Given the description of an element on the screen output the (x, y) to click on. 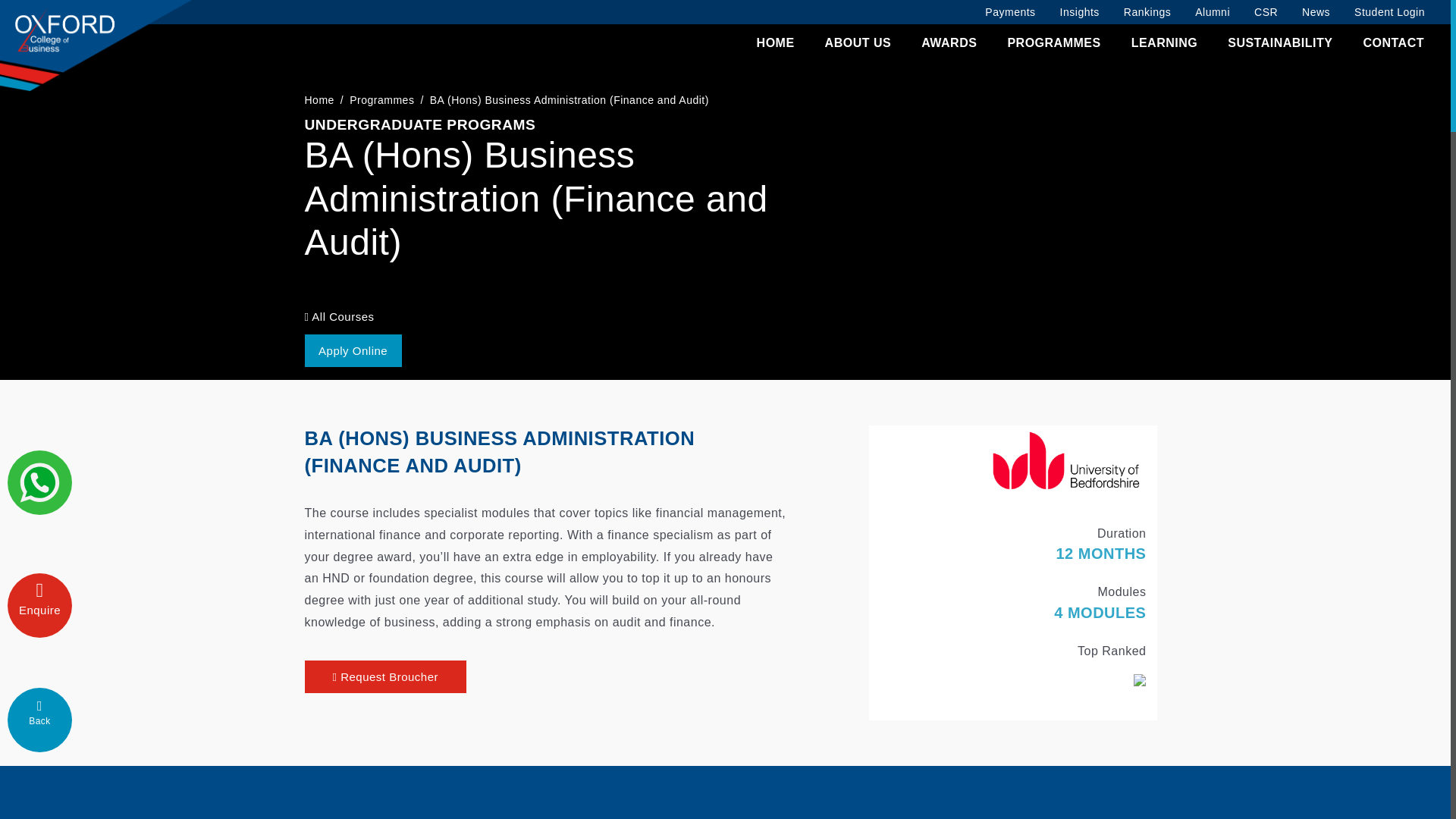
ABOUT US (858, 42)
AWARDS (949, 42)
Request Broucher (385, 676)
News (1316, 12)
HOME (775, 42)
Go to Oxford College of Business Sri Lanka. (319, 100)
Payments (1009, 12)
Rankings (1147, 12)
CONTACT (1393, 42)
Home (319, 100)
Programmes (381, 100)
Alumni (1211, 12)
SUSTAINABILITY (1279, 42)
LEARNING (1164, 42)
All Courses (339, 316)
